Given the description of an element on the screen output the (x, y) to click on. 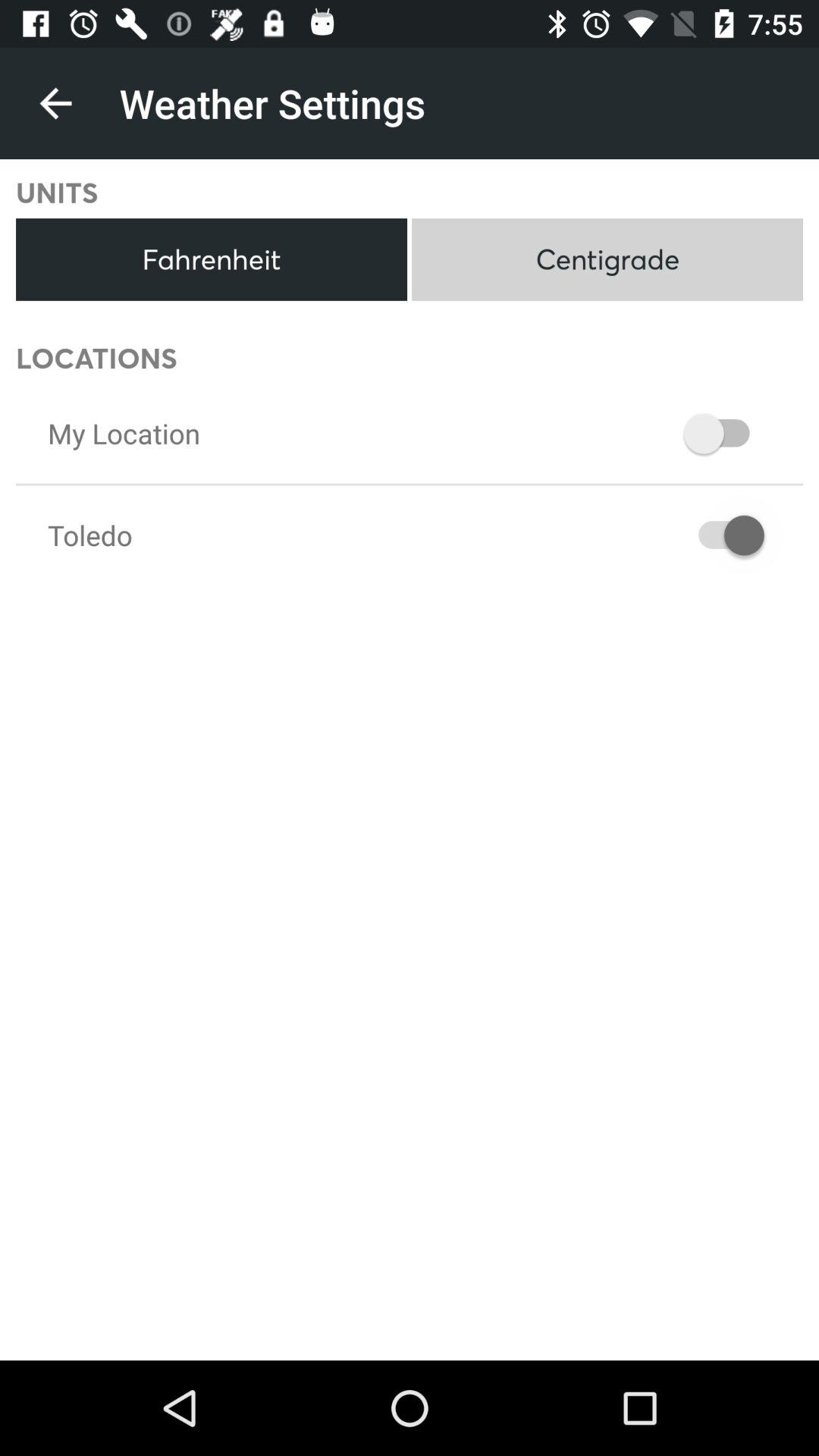
turn on the toledo (89, 534)
